Given the description of an element on the screen output the (x, y) to click on. 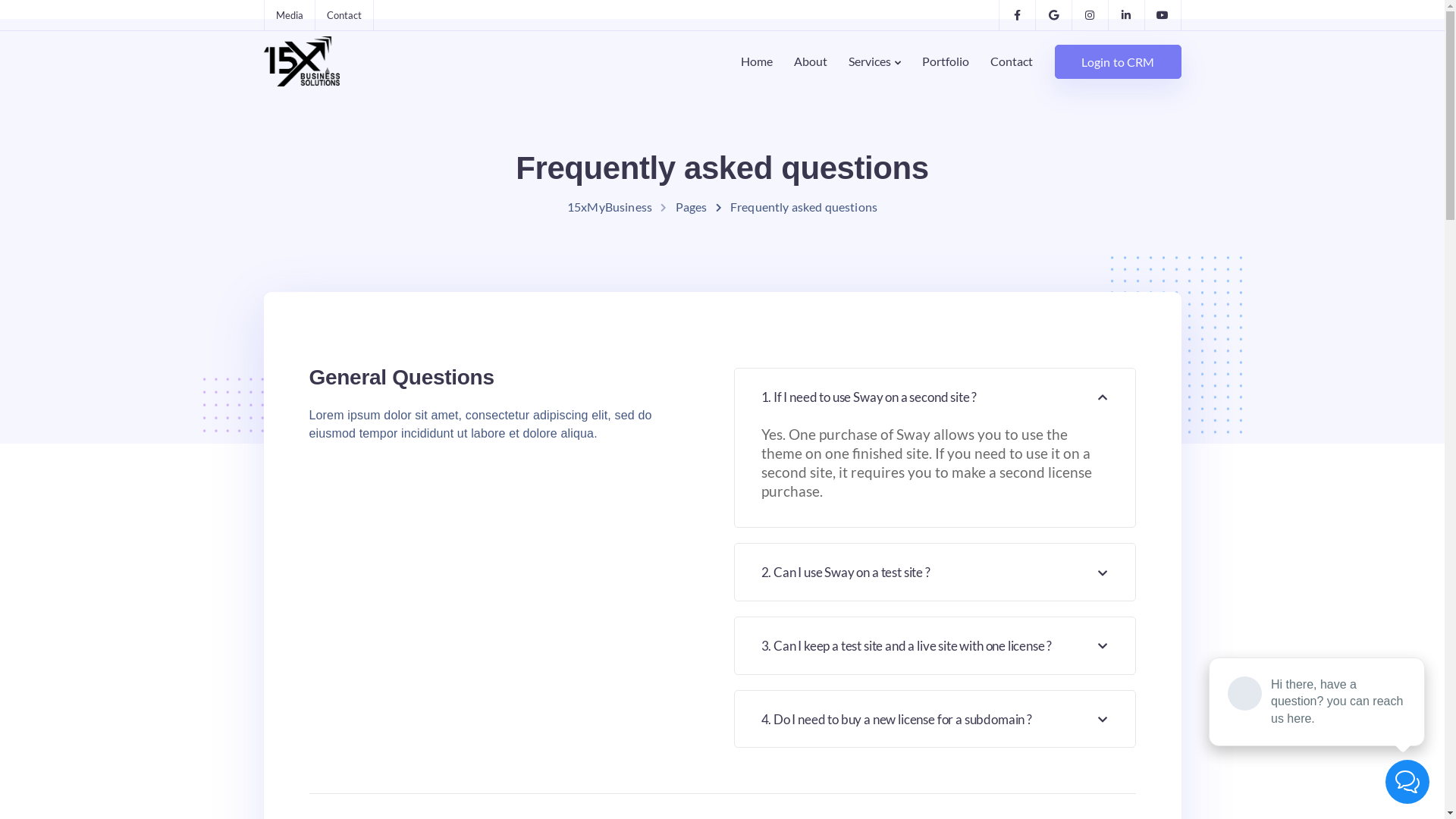
About Element type: text (658, 492)
IT Services Element type: text (486, 526)
Contact Element type: text (285, 347)
15X Intake Form Element type: text (838, 561)
CRM Services Element type: text (494, 561)
Contact Element type: text (343, 15)
Business Development Element type: text (519, 666)
Media Element type: text (475, 492)
15xMyBusiness Element type: text (609, 206)
Privacy Policy Element type: text (678, 666)
Login to CRM Element type: text (365, 347)
CRM Change Request Element type: text (853, 596)
Contact Element type: text (662, 561)
Careers Element type: text (662, 526)
Portfolio Element type: text (945, 61)
Automation Calculator Element type: text (855, 526)
Media Element type: text (289, 15)
Pages Element type: text (691, 206)
About Element type: text (810, 61)
Internship Element type: text (669, 701)
CRM Comparison Tool Element type: text (854, 492)
Affiliate Partnership Element type: text (512, 701)
Financial and Legal Element type: text (508, 631)
Services Element type: text (874, 61)
Terms and Conditions Element type: text (699, 631)
Portfolio Element type: text (665, 596)
Social Media Analyzer Element type: text (852, 631)
Contact Element type: text (1011, 61)
Strategic Marketing Element type: text (510, 596)
Login to CRM Element type: text (1117, 60)
SEO Analyzer Element type: text (830, 666)
Home Element type: text (756, 61)
